Given the description of an element on the screen output the (x, y) to click on. 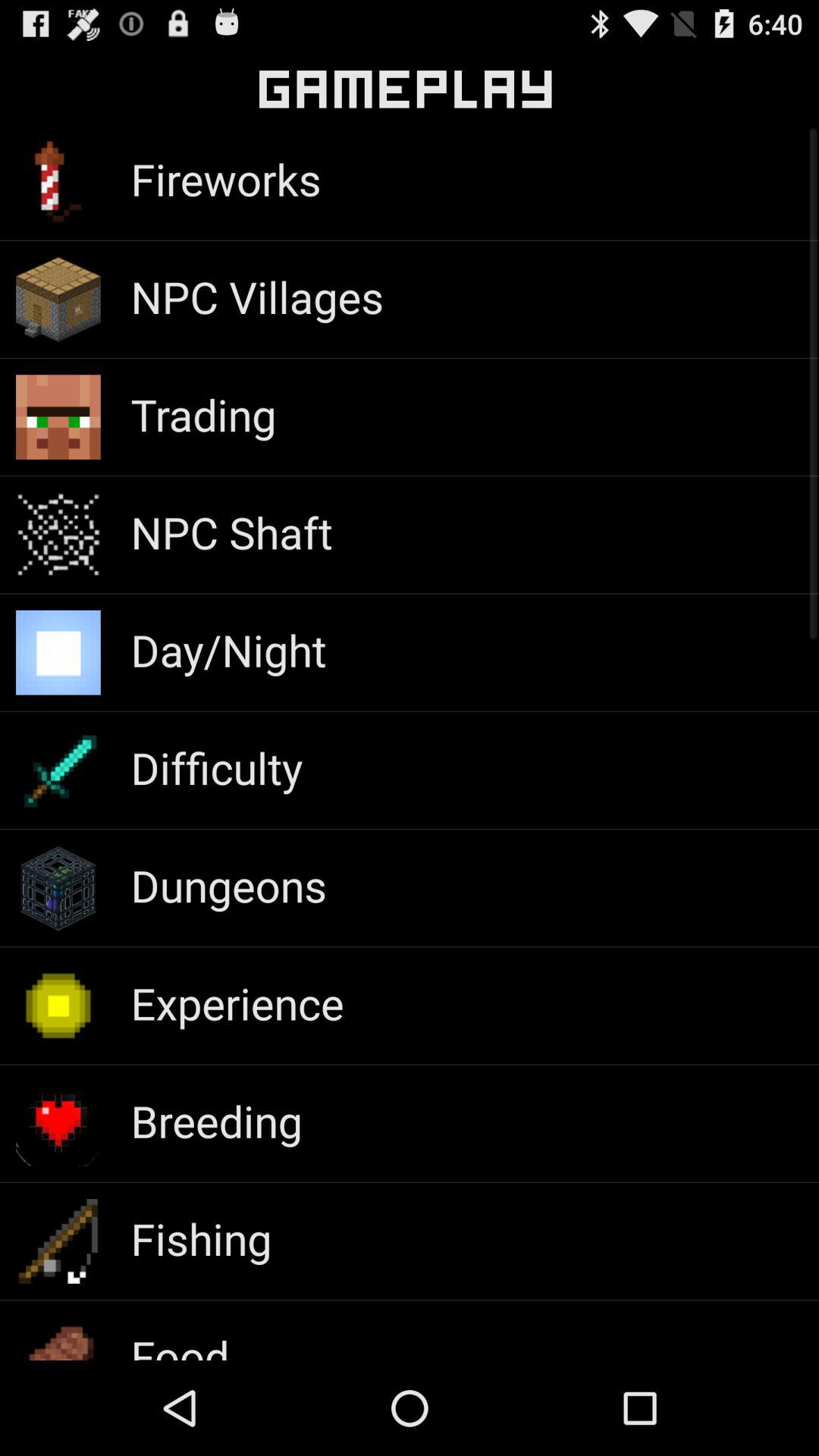
launch icon below fireworks (256, 296)
